Given the description of an element on the screen output the (x, y) to click on. 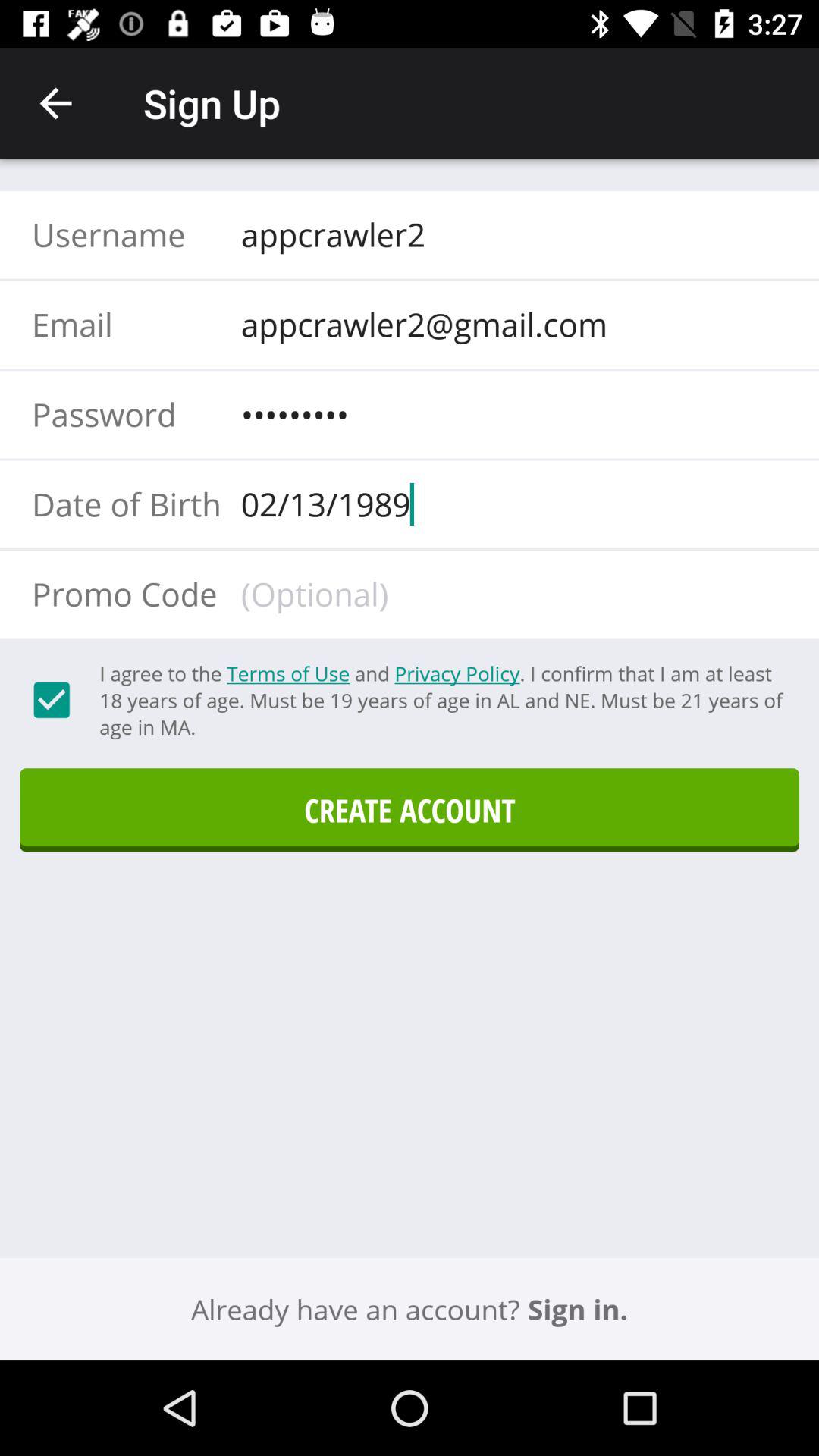
flip until create account item (409, 809)
